Given the description of an element on the screen output the (x, y) to click on. 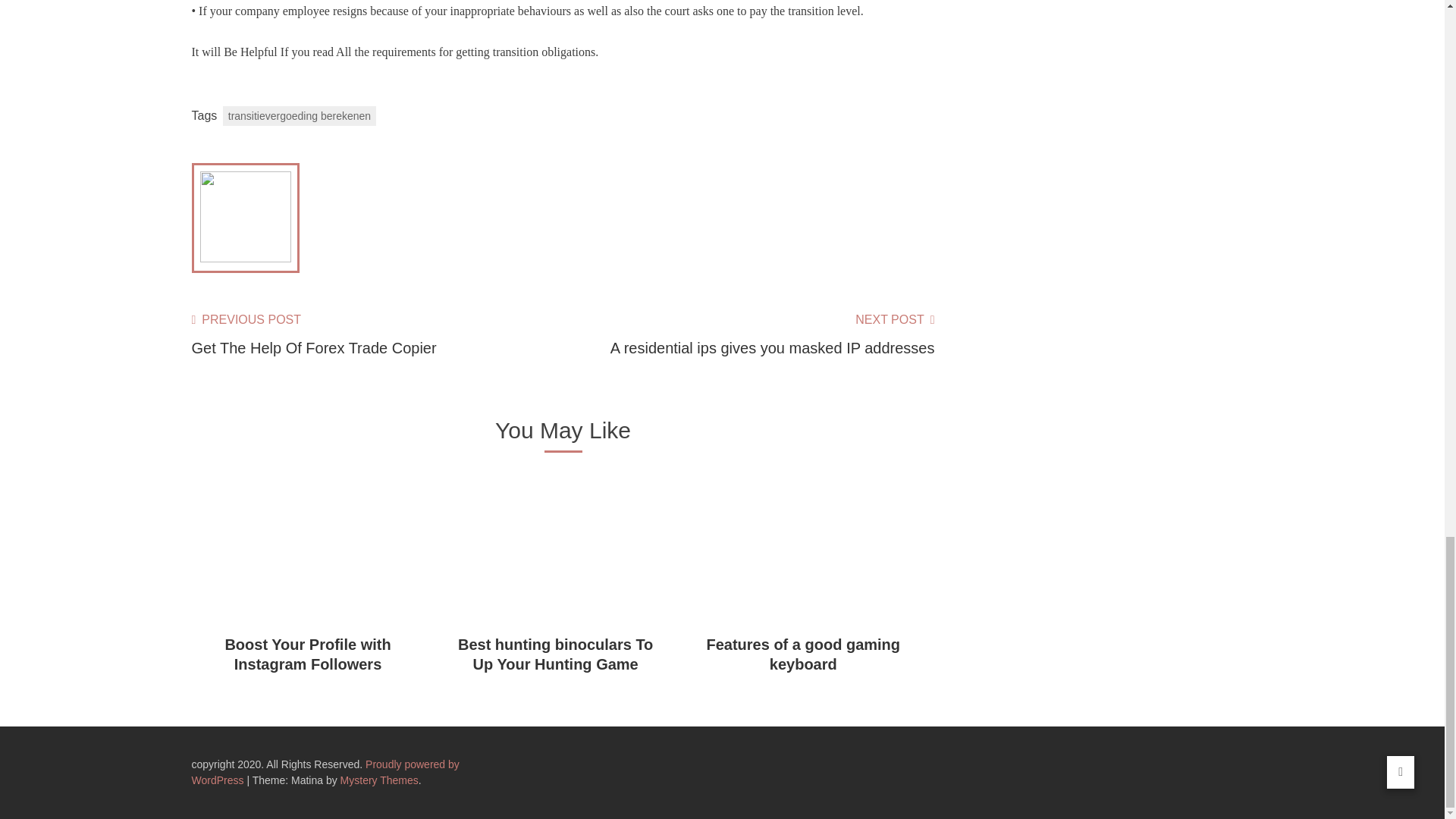
transitievergoeding berekenen (298, 116)
Features of a good gaming keyboard (802, 654)
Best hunting binoculars To Up Your Hunting Game (555, 654)
Best hunting binoculars To Up Your Hunting Game (555, 654)
Boost Your Profile with Instagram Followers (307, 654)
Boost Your Profile with Instagram Followers (312, 335)
Features of a good gaming keyboard (307, 654)
